Given the description of an element on the screen output the (x, y) to click on. 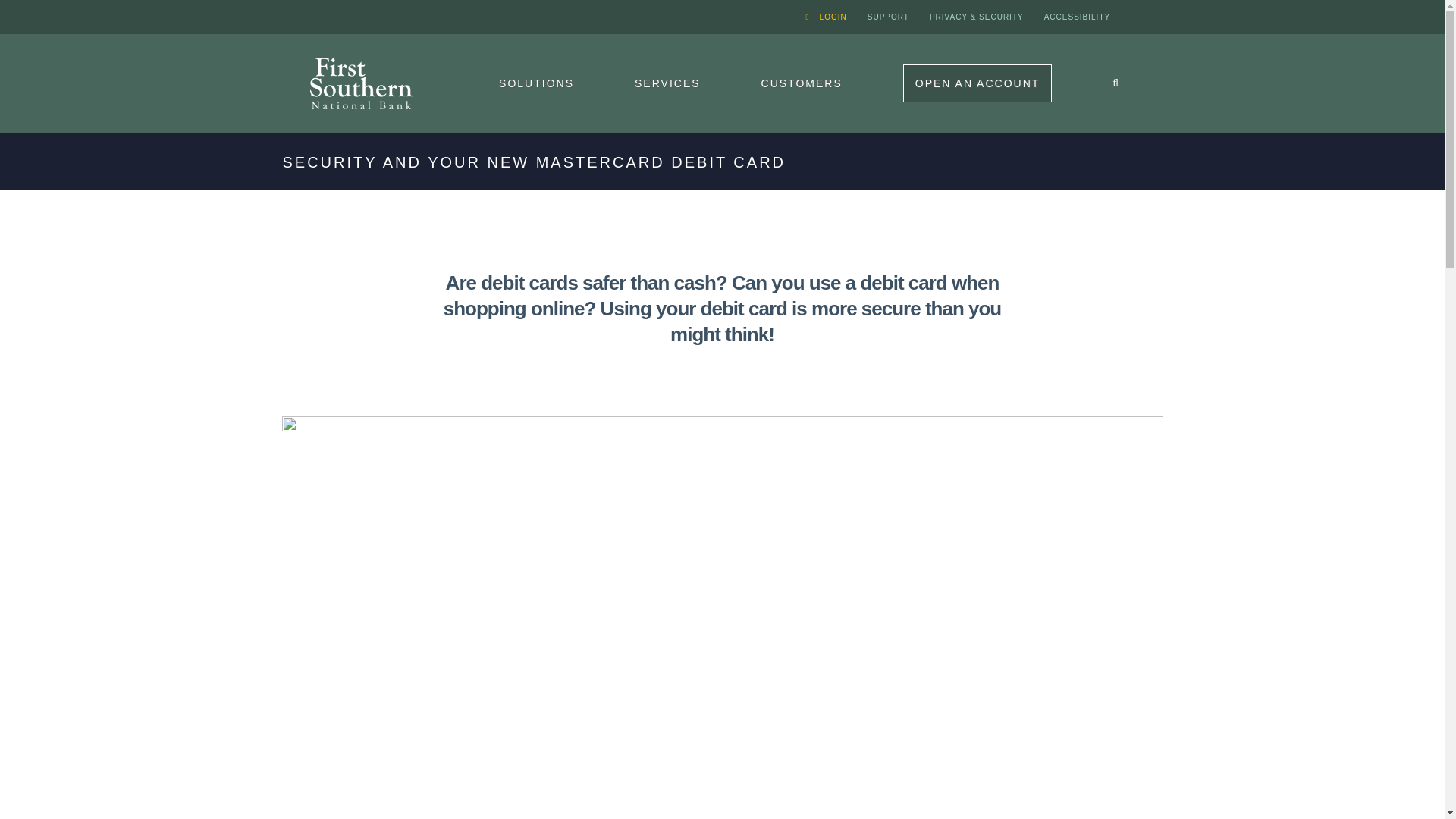
ACCESSIBILITY (1076, 16)
LOGIN (826, 16)
SUPPORT (887, 16)
checkOutButton (977, 83)
